Given the description of an element on the screen output the (x, y) to click on. 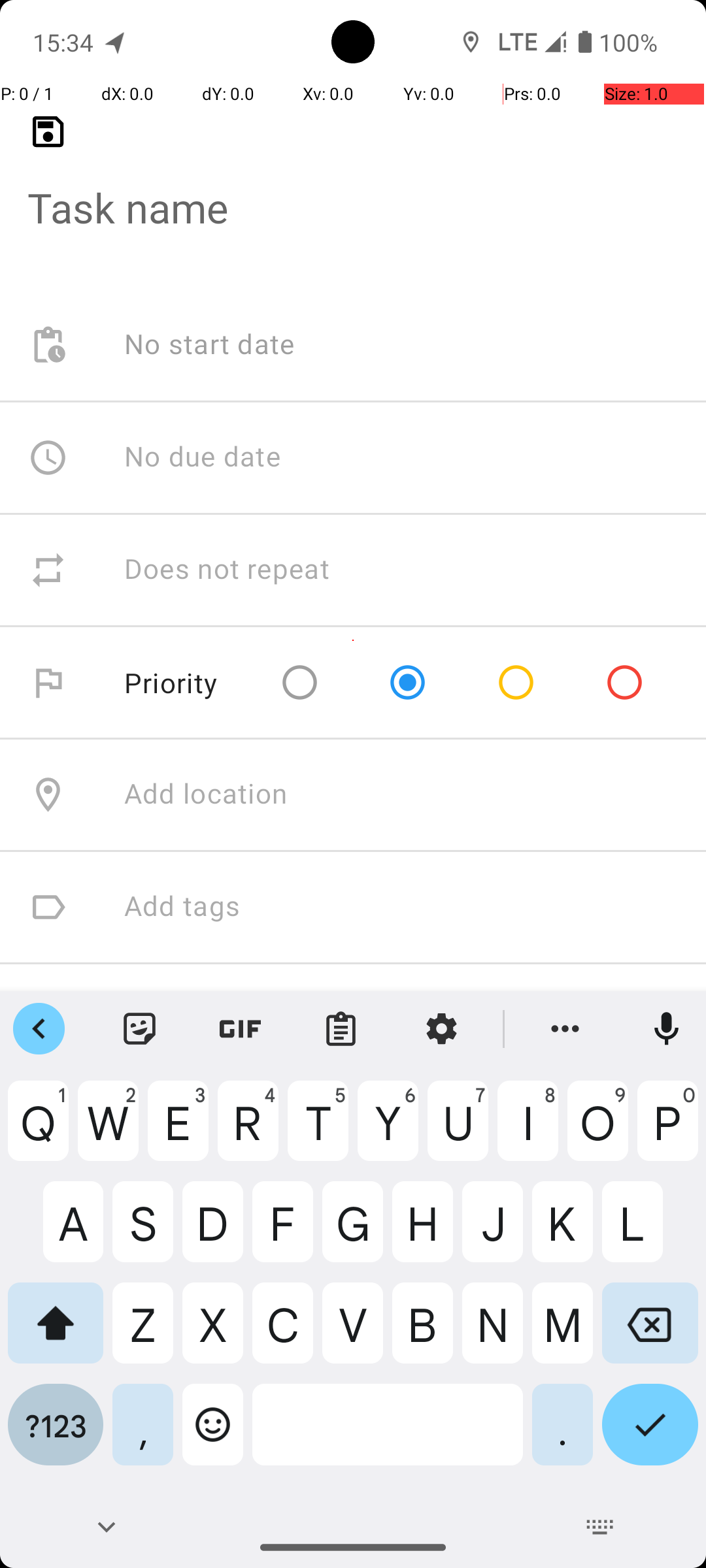
Task name Element type: android.widget.EditText (353, 186)
